Given the description of an element on the screen output the (x, y) to click on. 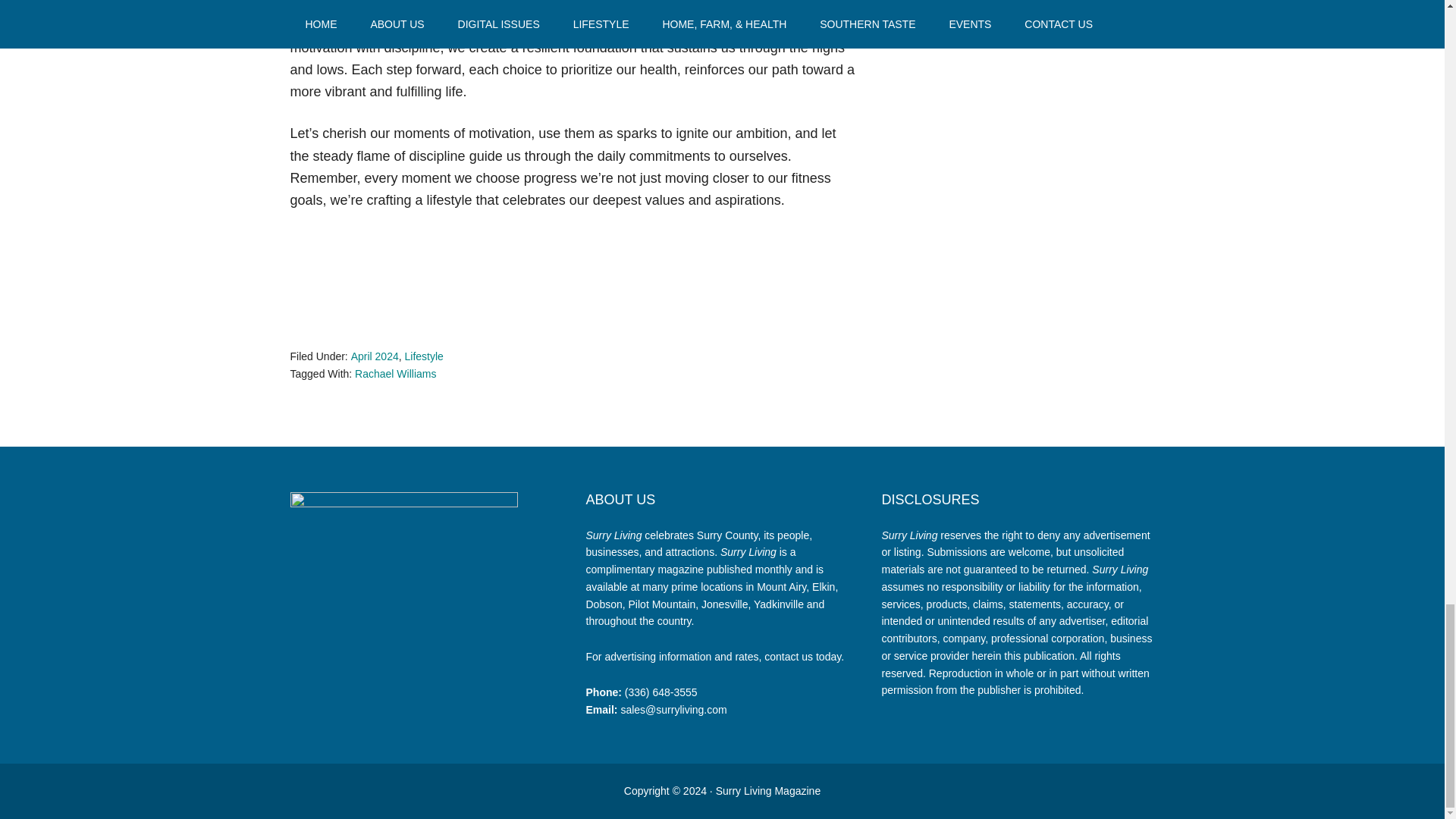
Rachael Williams (395, 373)
April 2024 (374, 356)
Lifestyle (423, 356)
